Given the description of an element on the screen output the (x, y) to click on. 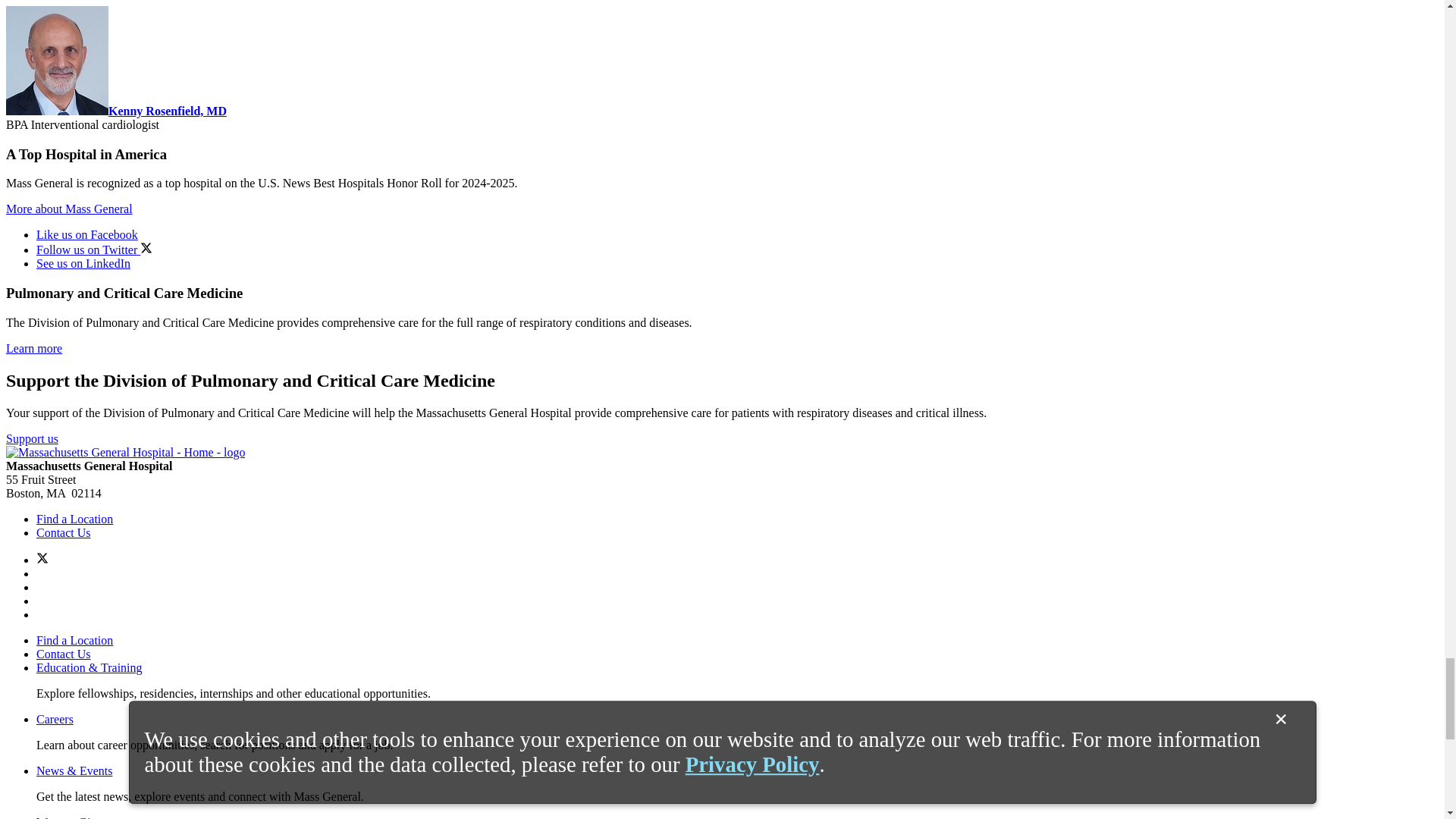
Massachusetts General Hospital - Home (124, 451)
